Given the description of an element on the screen output the (x, y) to click on. 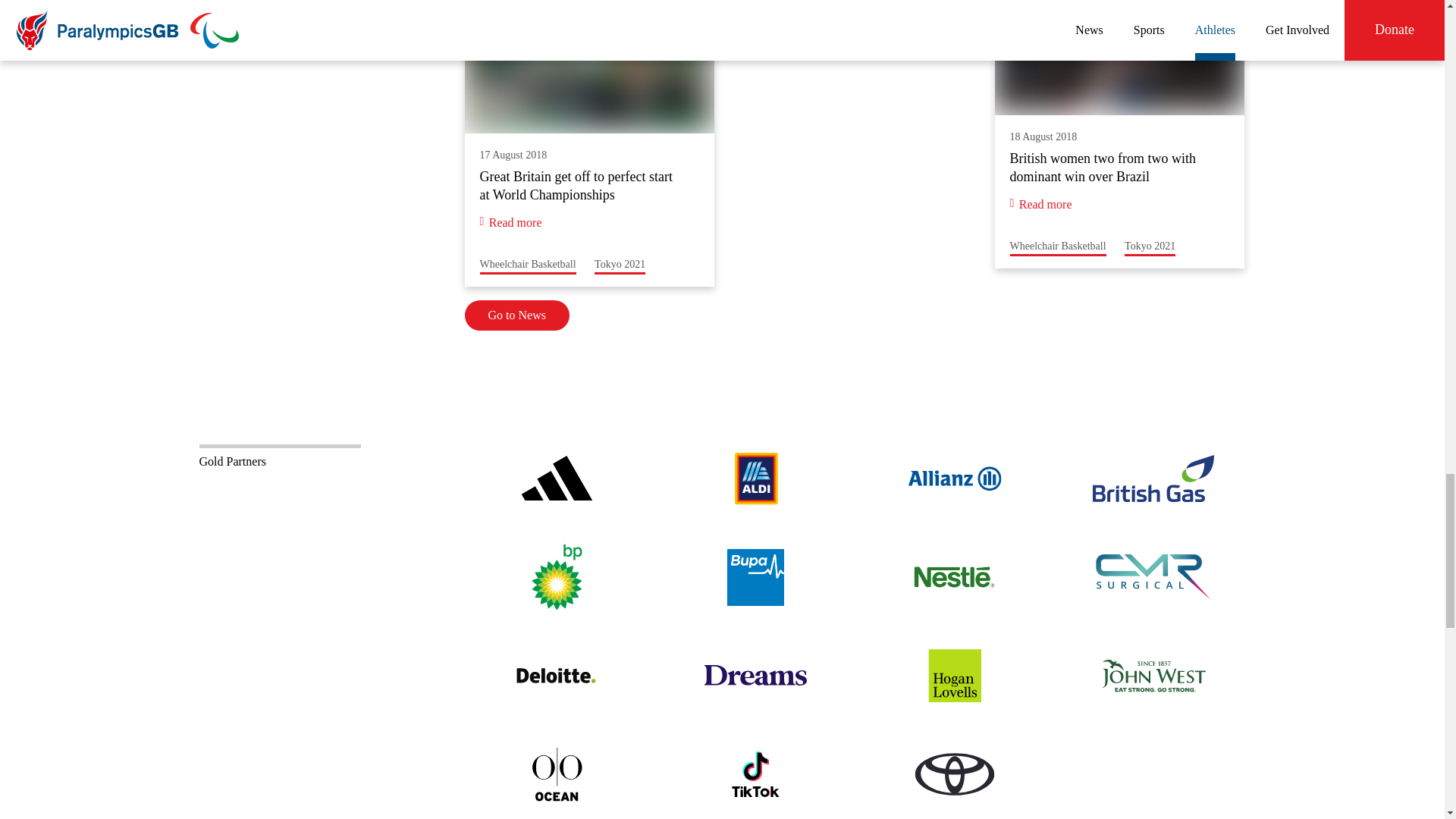
British women two from two with dominant win over Brazil (1119, 134)
